Given the description of an element on the screen output the (x, y) to click on. 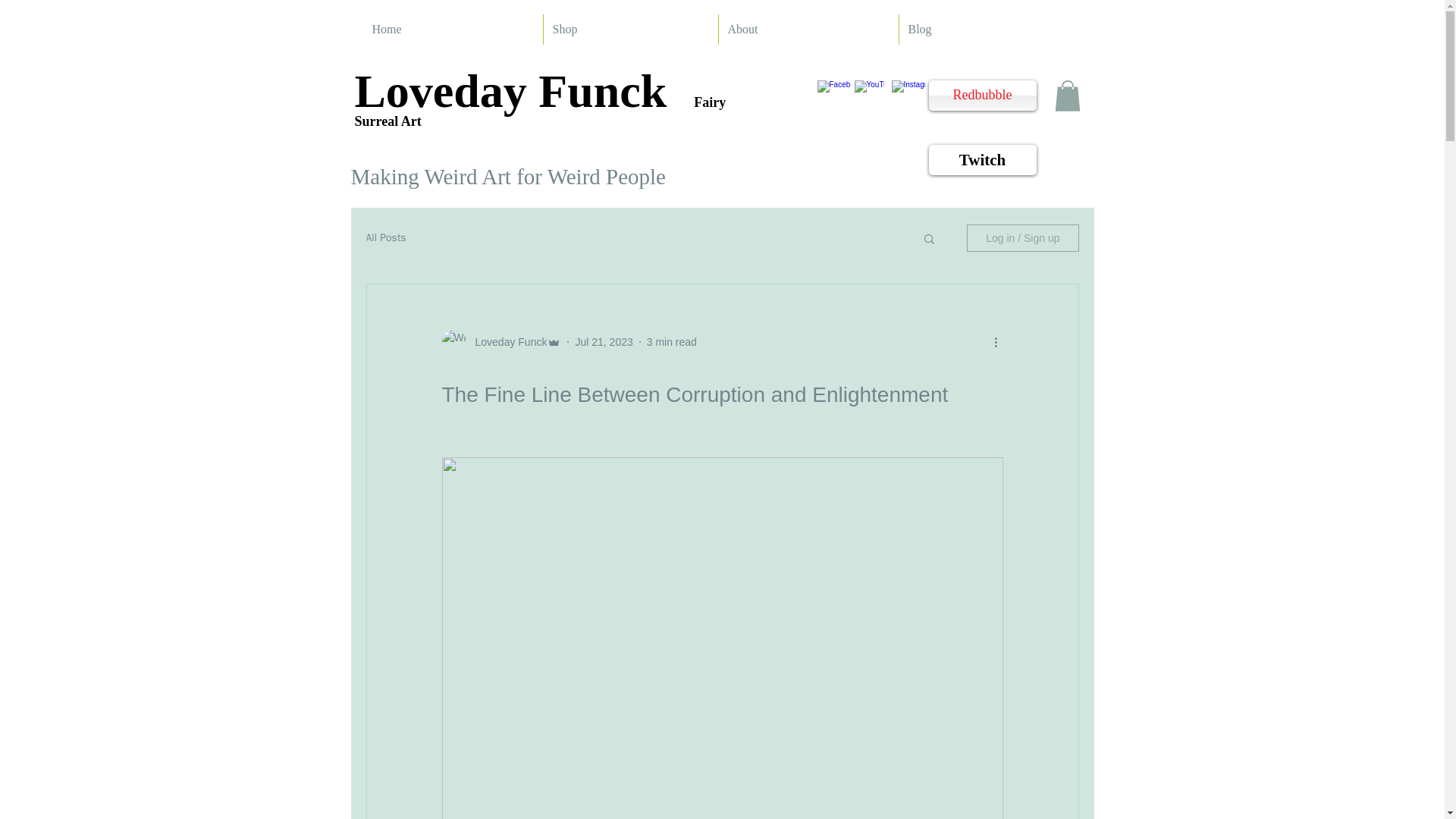
Loveday Funck (506, 342)
3 min read (671, 341)
Home (451, 29)
Shop (630, 29)
About (808, 29)
Jul 21, 2023 (603, 341)
Blog (985, 29)
